Given the description of an element on the screen output the (x, y) to click on. 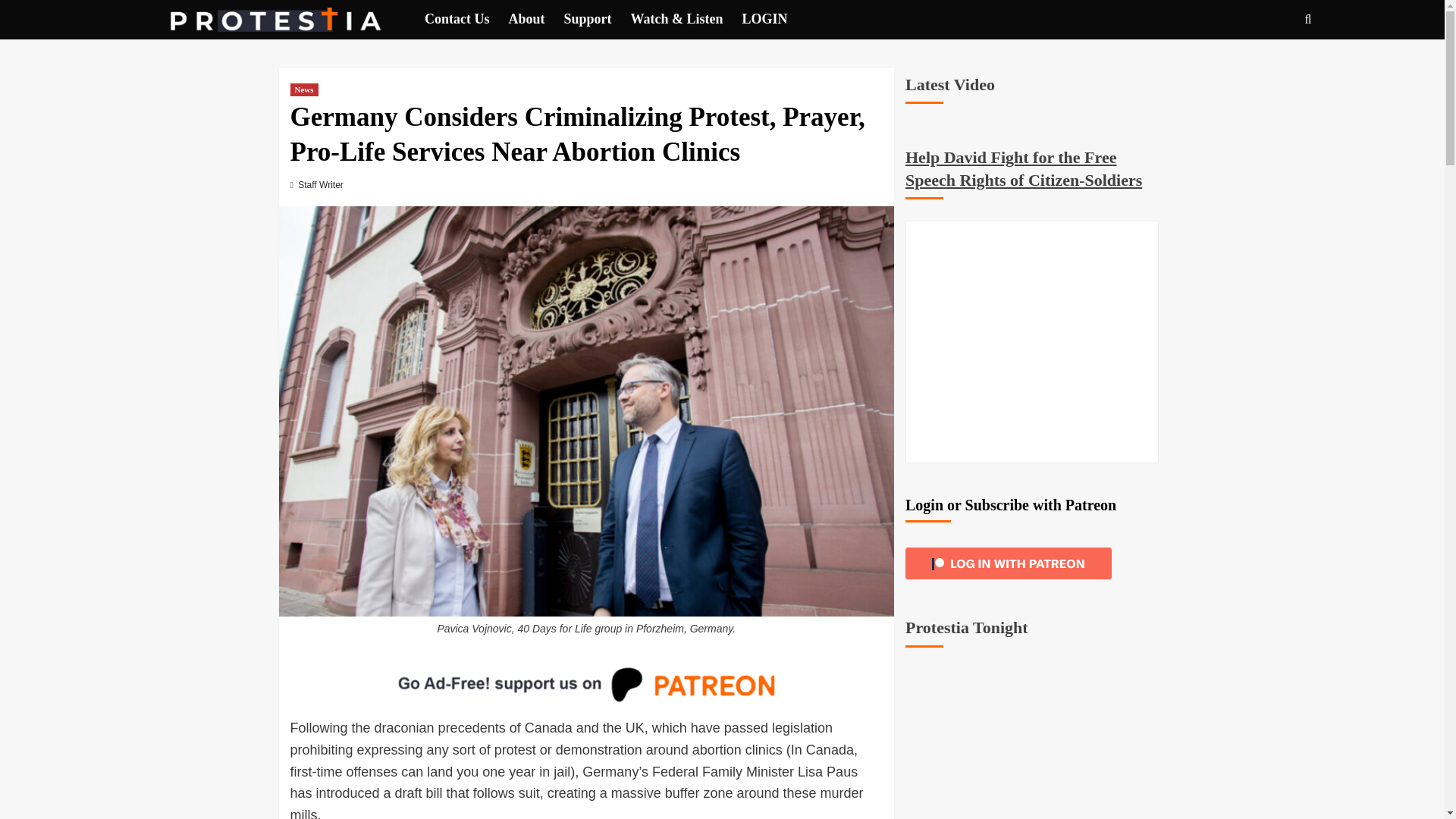
About (535, 19)
Staff Writer (320, 184)
Support (597, 19)
Contact Us (466, 19)
LOGIN (774, 19)
News (303, 89)
Search (1272, 65)
